Given the description of an element on the screen output the (x, y) to click on. 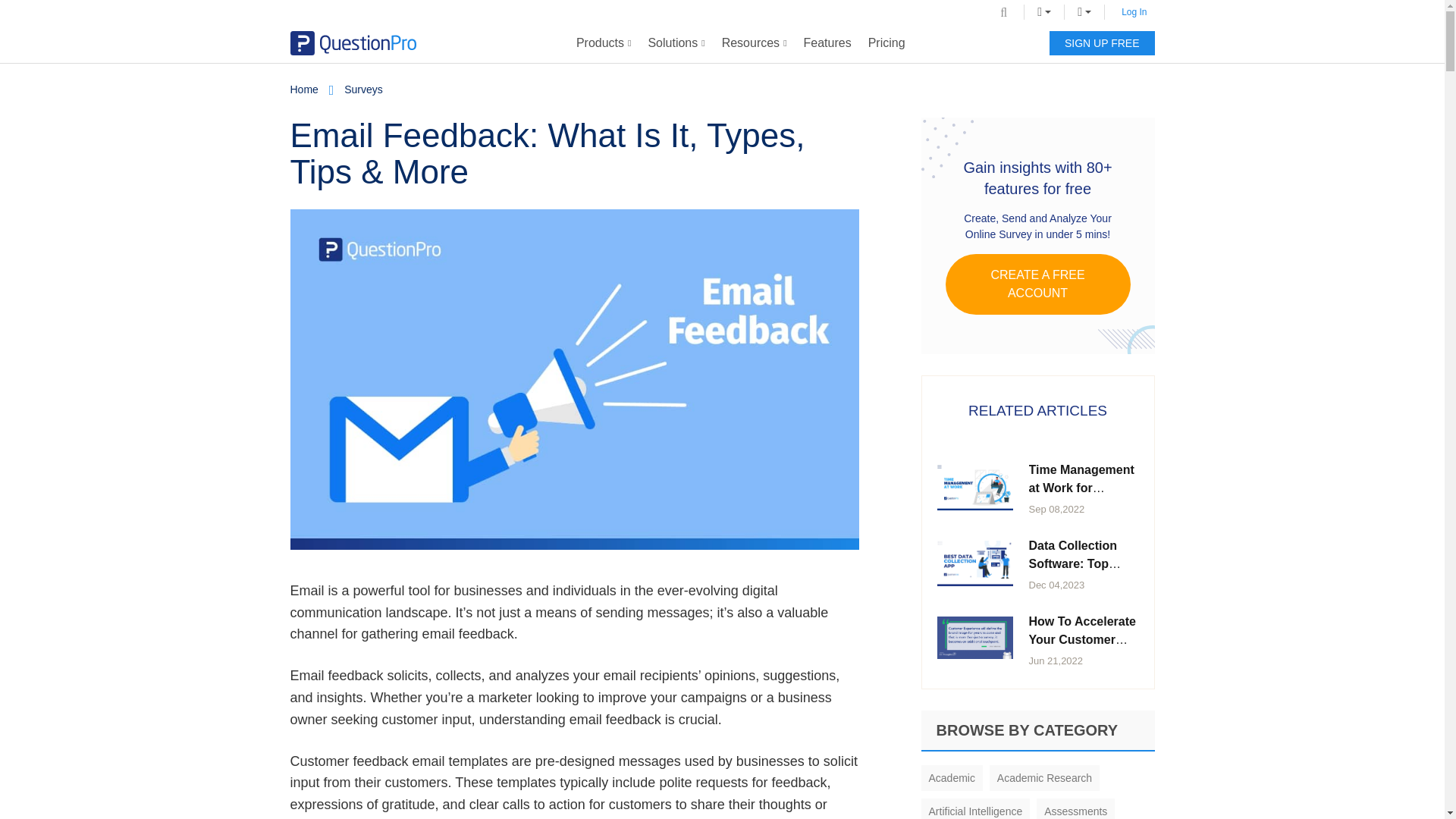
Solutions (676, 42)
Pricing (887, 42)
Products (603, 42)
Resources (753, 42)
Features (827, 42)
